Given the description of an element on the screen output the (x, y) to click on. 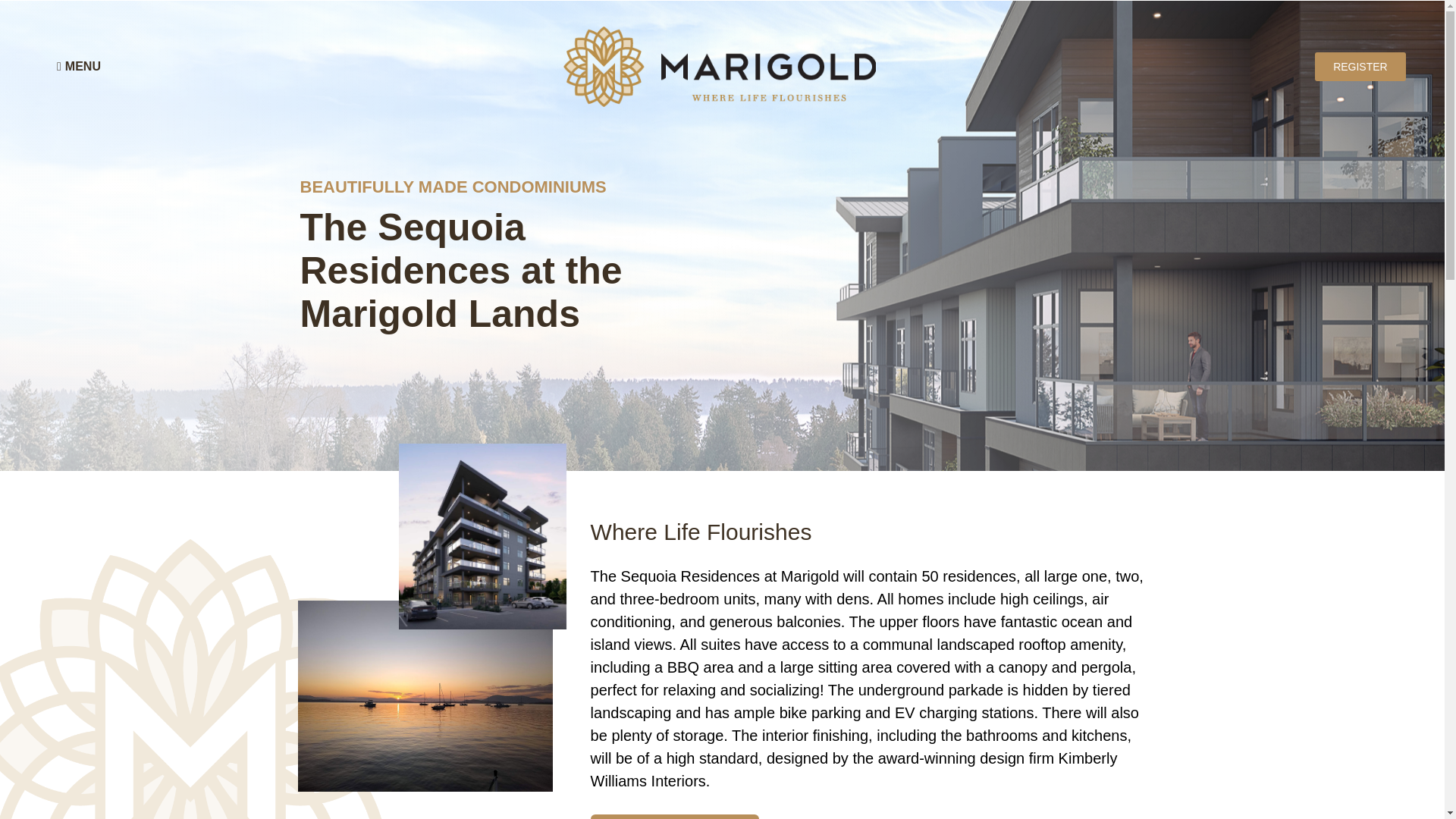
MENU (78, 66)
REGISTER (1360, 66)
REGISTER (675, 816)
